Given the description of an element on the screen output the (x, y) to click on. 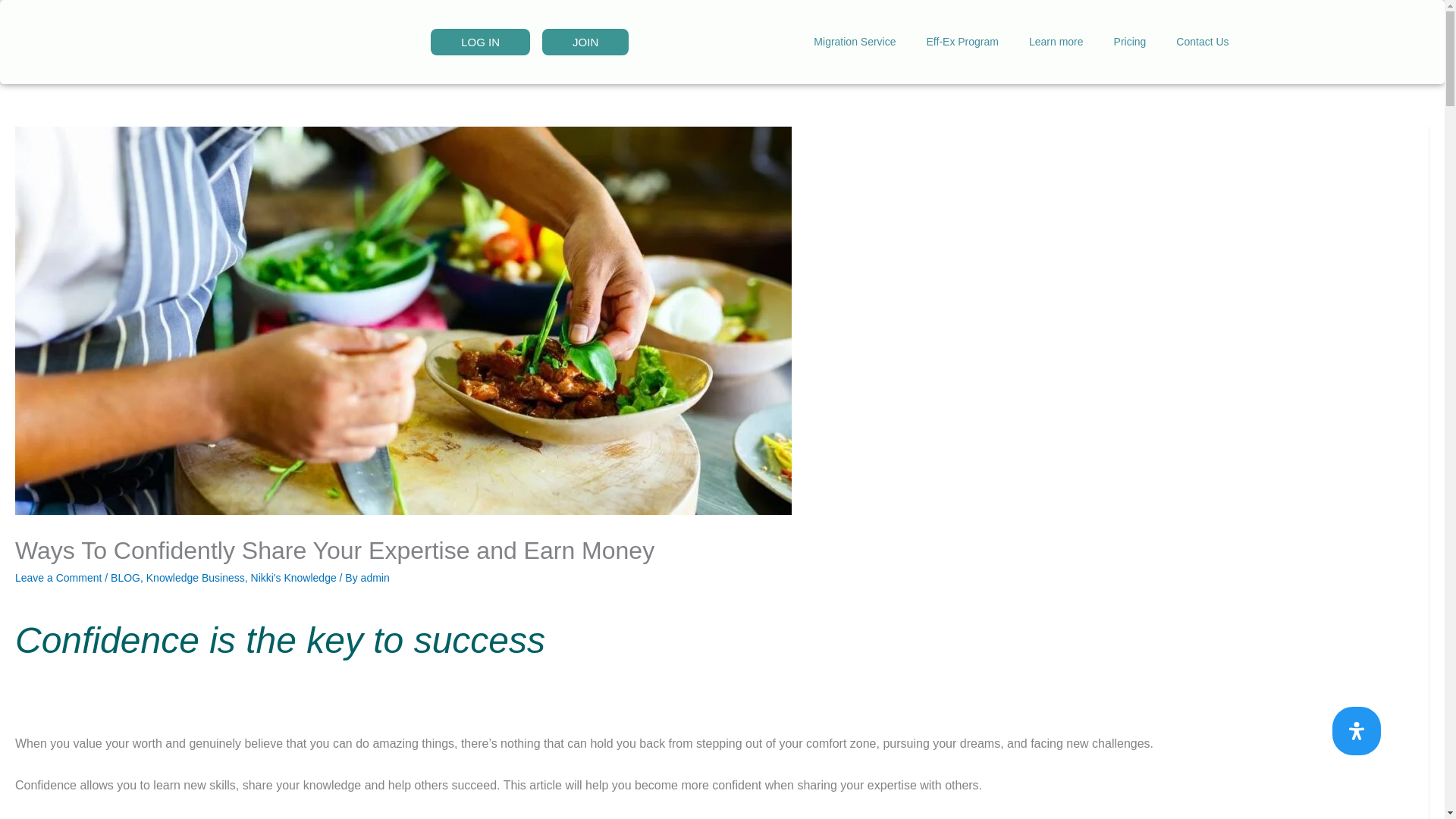
Eff-Ex Program (962, 41)
View all posts by admin (375, 577)
JOIN (584, 41)
BLOG (124, 577)
Learn more (1056, 41)
LOG IN (479, 41)
Pricing (1130, 41)
admin (375, 577)
Knowledge Business (195, 577)
Nikki's Knowledge (293, 577)
